Given the description of an element on the screen output the (x, y) to click on. 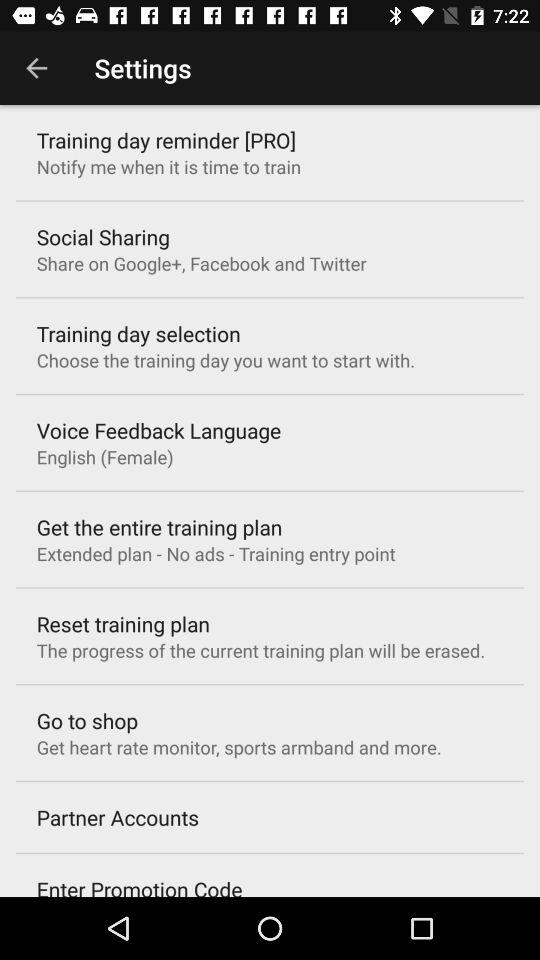
jump to the the progress of icon (260, 650)
